Given the description of an element on the screen output the (x, y) to click on. 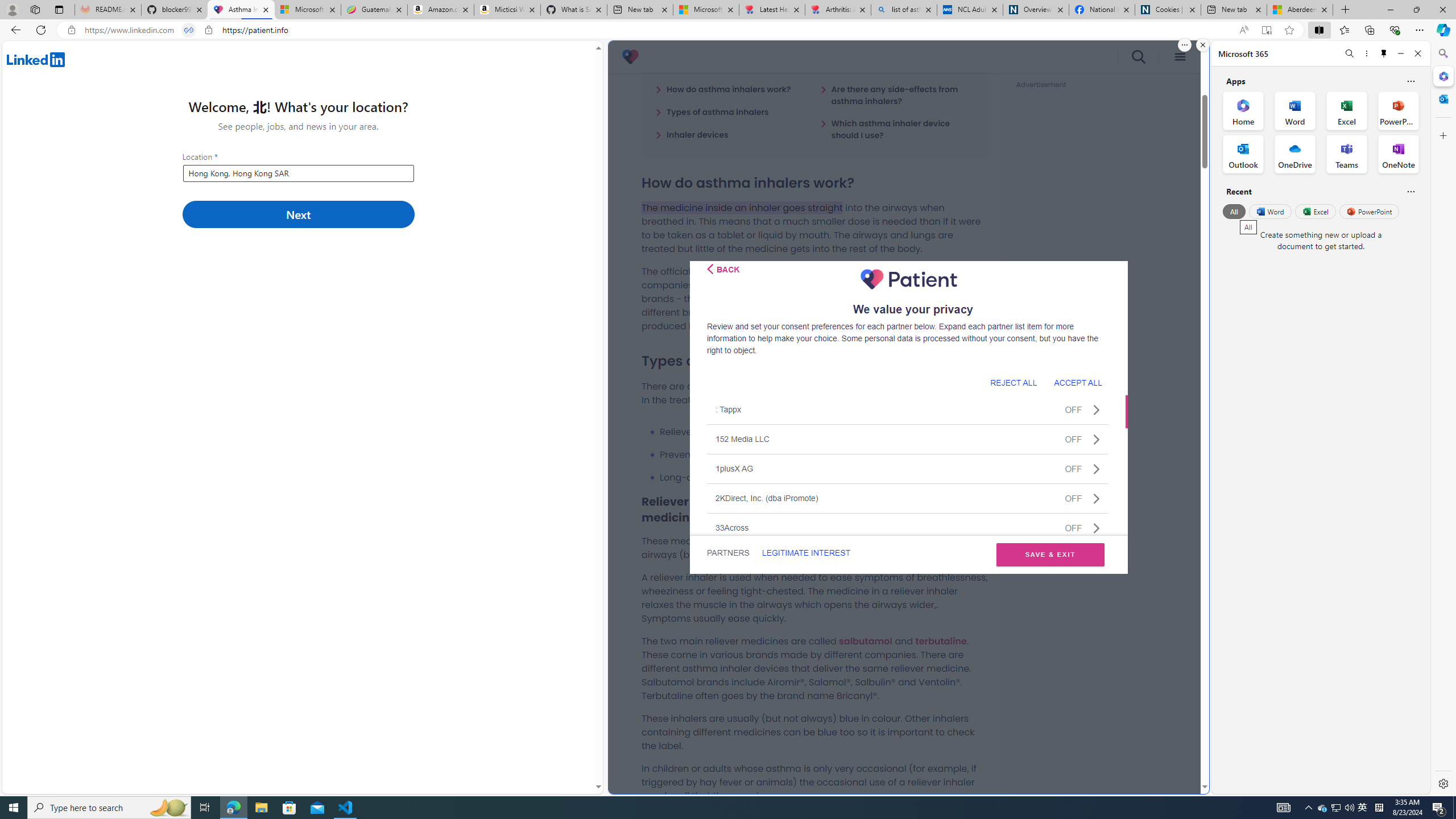
Arthritis: Ask Health Professionals (838, 9)
Patient 3.0 (630, 56)
ACCEPT ALL (1078, 382)
Word (1269, 210)
terbutaline (940, 640)
PowerPoint (1369, 210)
